Given the description of an element on the screen output the (x, y) to click on. 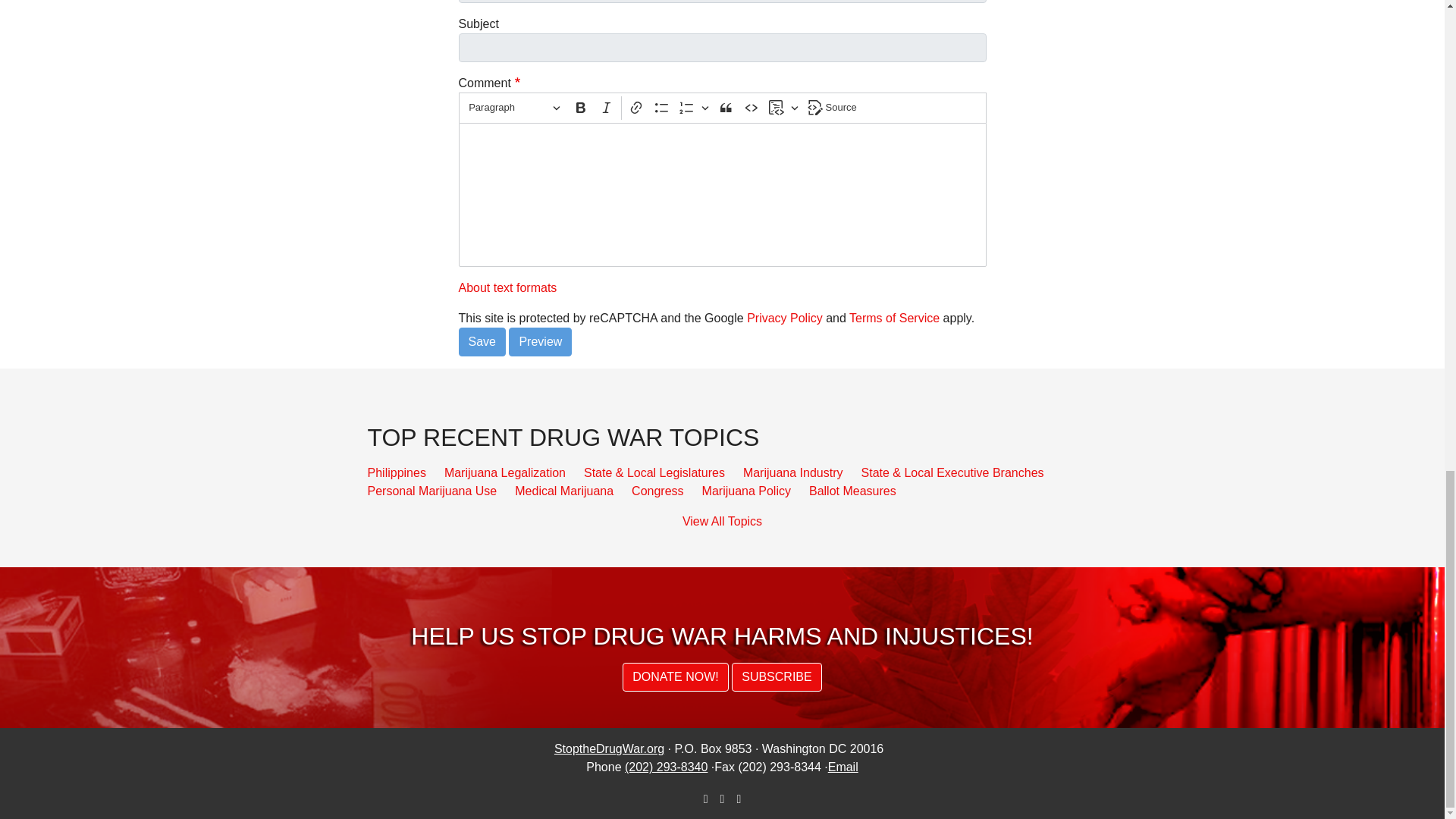
Save (481, 341)
Preview (540, 341)
